Given the description of an element on the screen output the (x, y) to click on. 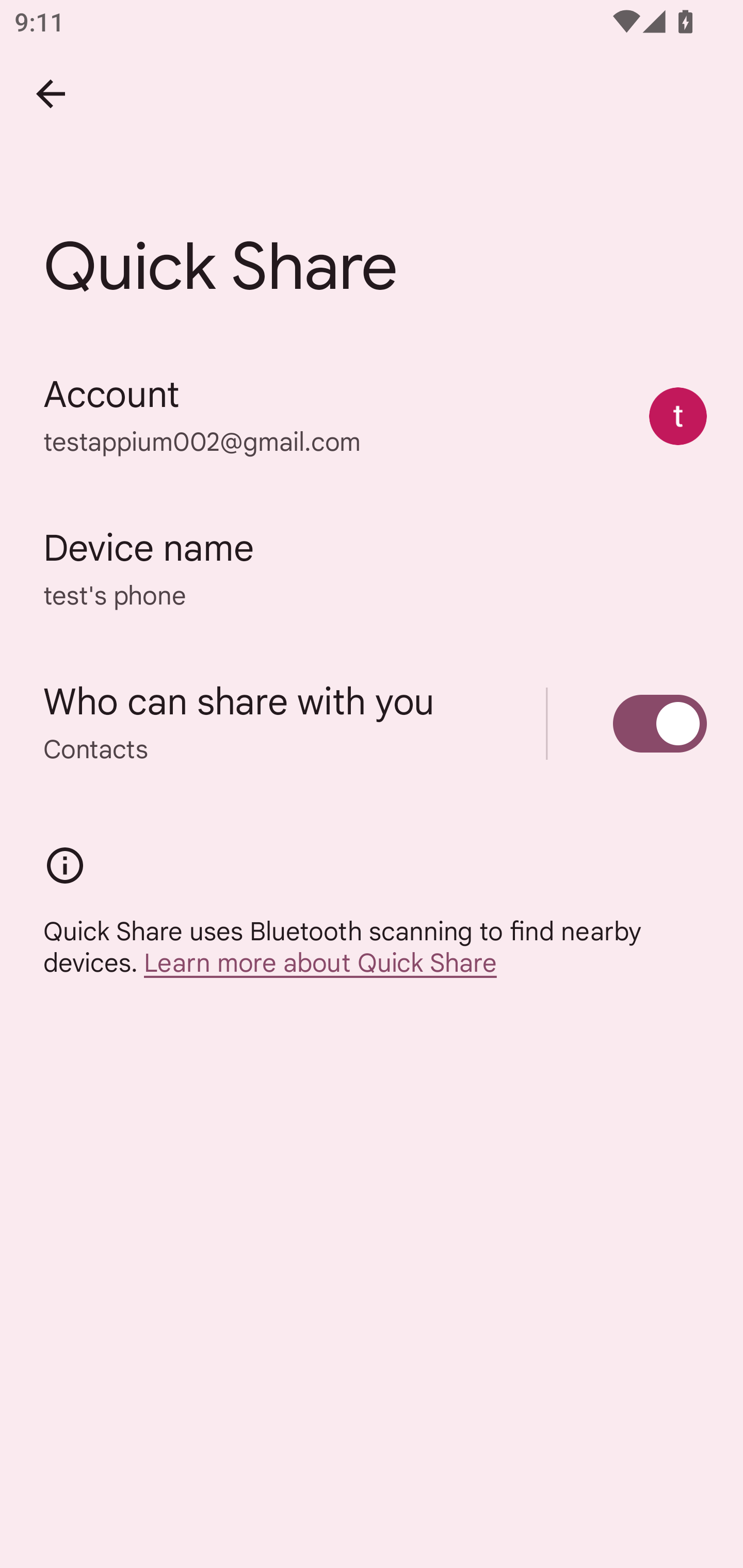
Back (50, 93)
Account testappium002@gmail.com (371, 415)
Device name test's phone (371, 569)
Who can share with you Contacts (371, 723)
